Given the description of an element on the screen output the (x, y) to click on. 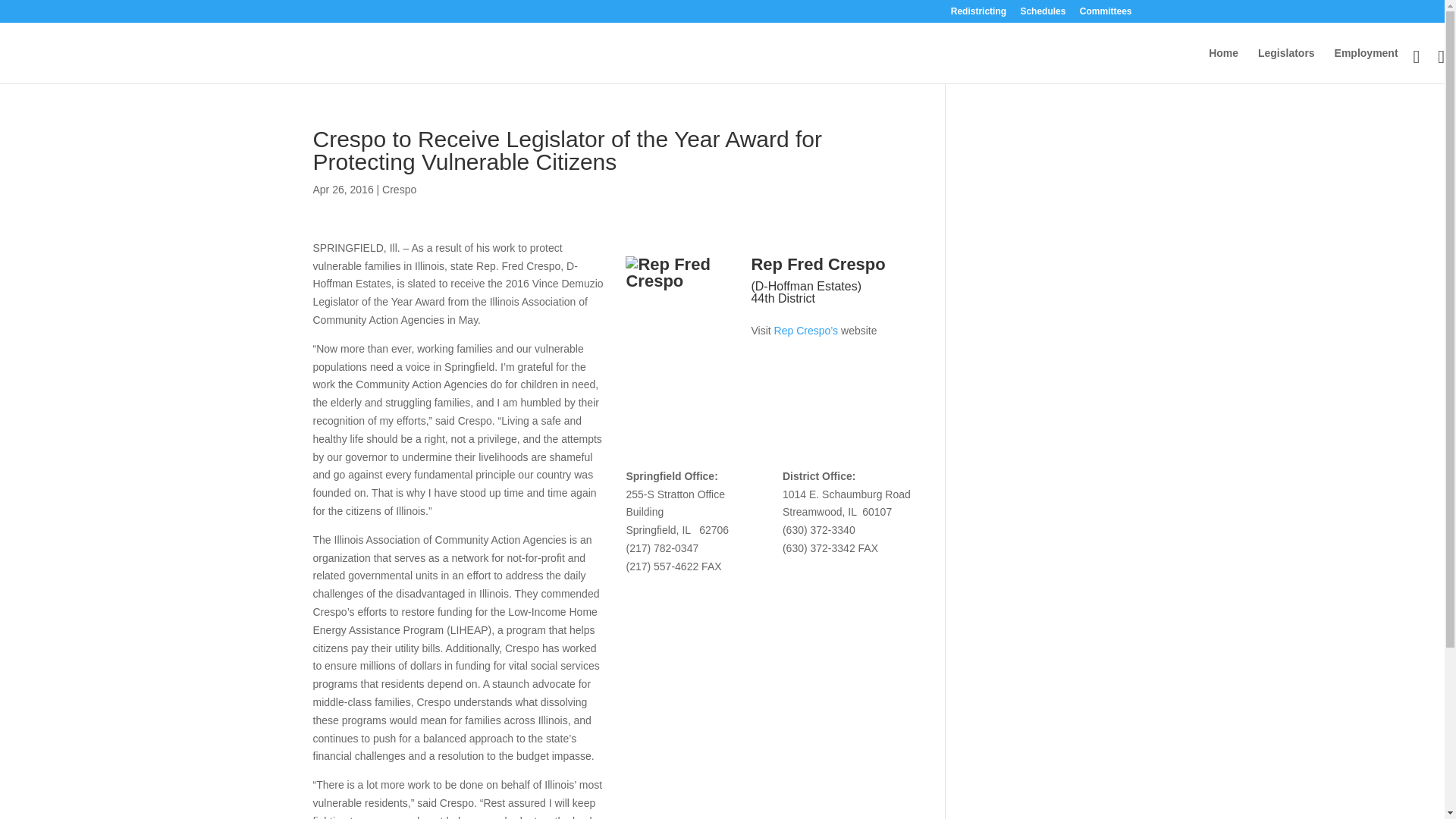
Committees (1106, 14)
Employment (1366, 65)
Follow on Twitter (792, 360)
Redistricting (978, 14)
Schedules (1042, 14)
Crespo (398, 189)
Follow on Facebook (762, 360)
Legislators (1285, 65)
